Given the description of an element on the screen output the (x, y) to click on. 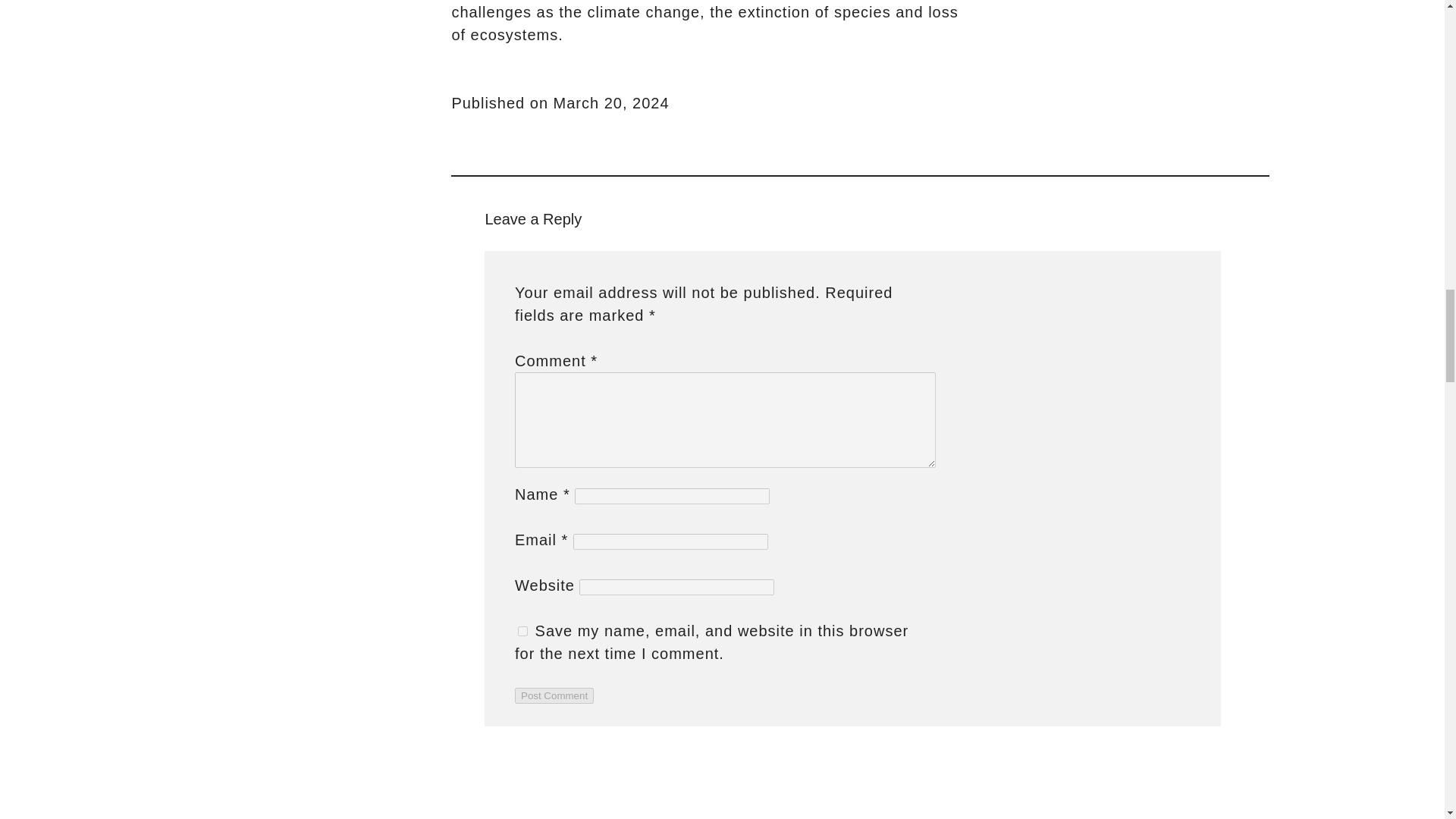
Post Comment (554, 695)
yes (522, 631)
Post Comment (554, 695)
